Given the description of an element on the screen output the (x, y) to click on. 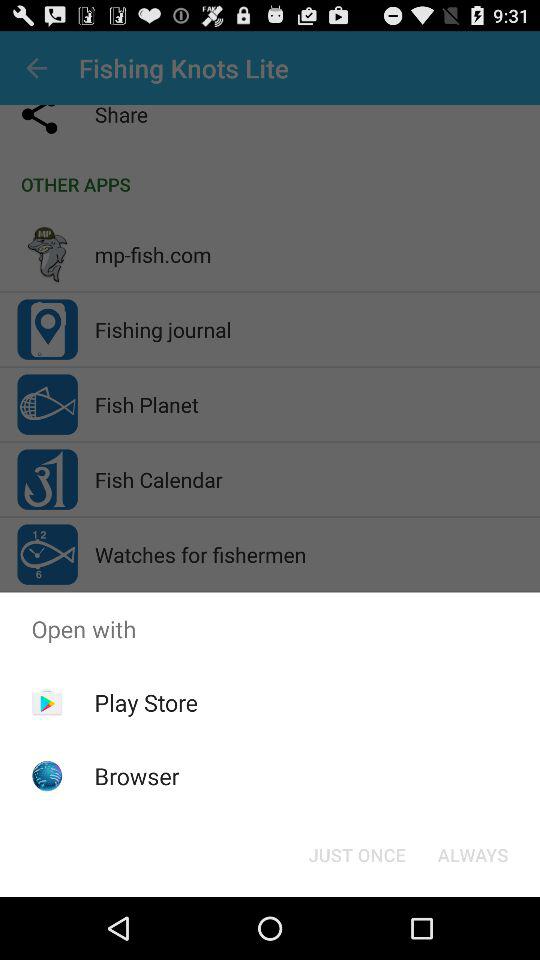
click just once button (356, 854)
